Given the description of an element on the screen output the (x, y) to click on. 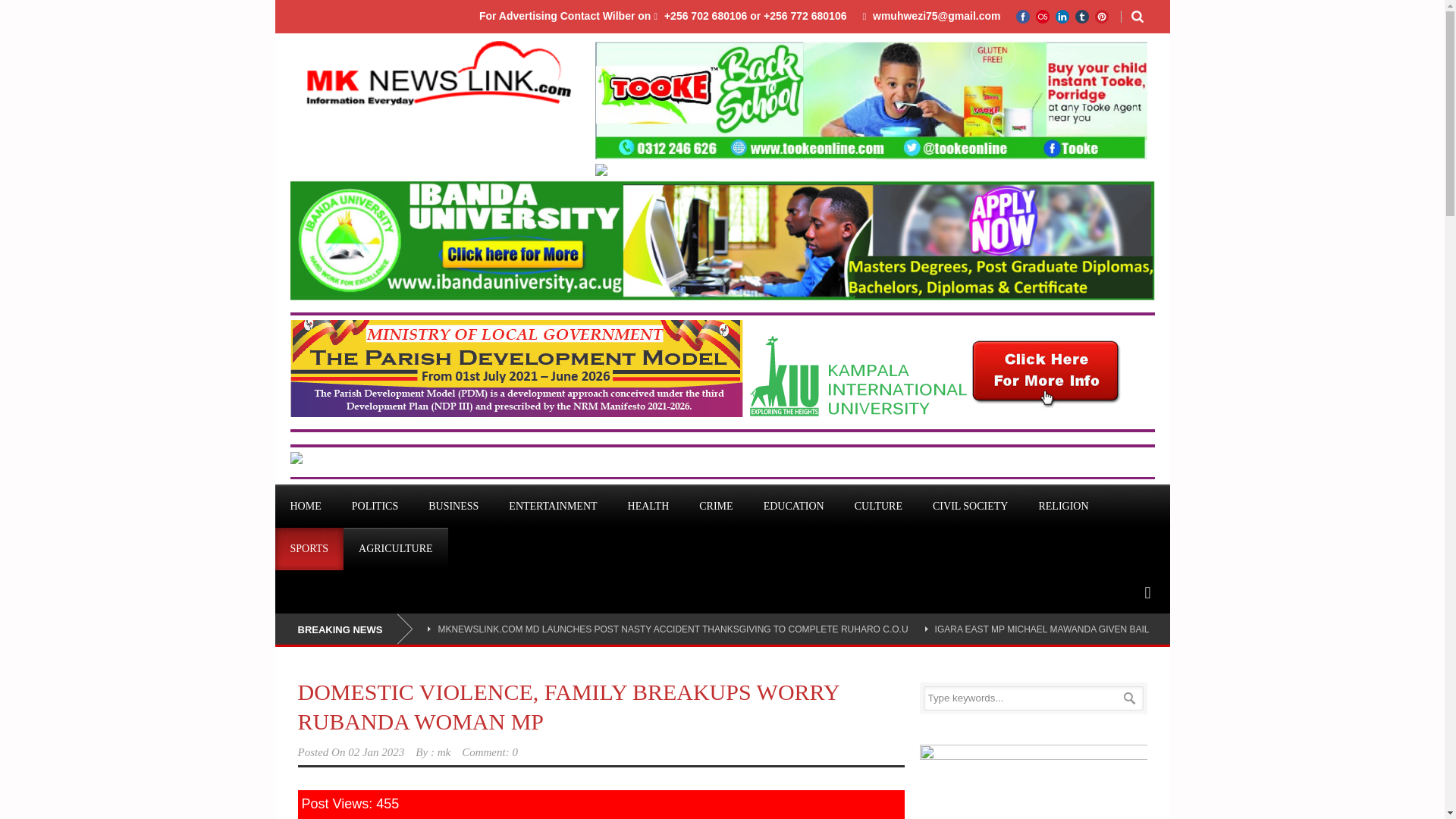
HEALTH (648, 506)
BUSINESS (453, 506)
CIVIL SOCIETY (970, 506)
02 Jan 2023 (375, 752)
IGARA EAST MP MICHAEL MAWANDA GIVEN BAIL (1042, 629)
RELIGION (1063, 506)
EDUCATION (794, 506)
Type keywords... (1032, 698)
CULTURE (878, 506)
Comment: 0 (489, 752)
